Given the description of an element on the screen output the (x, y) to click on. 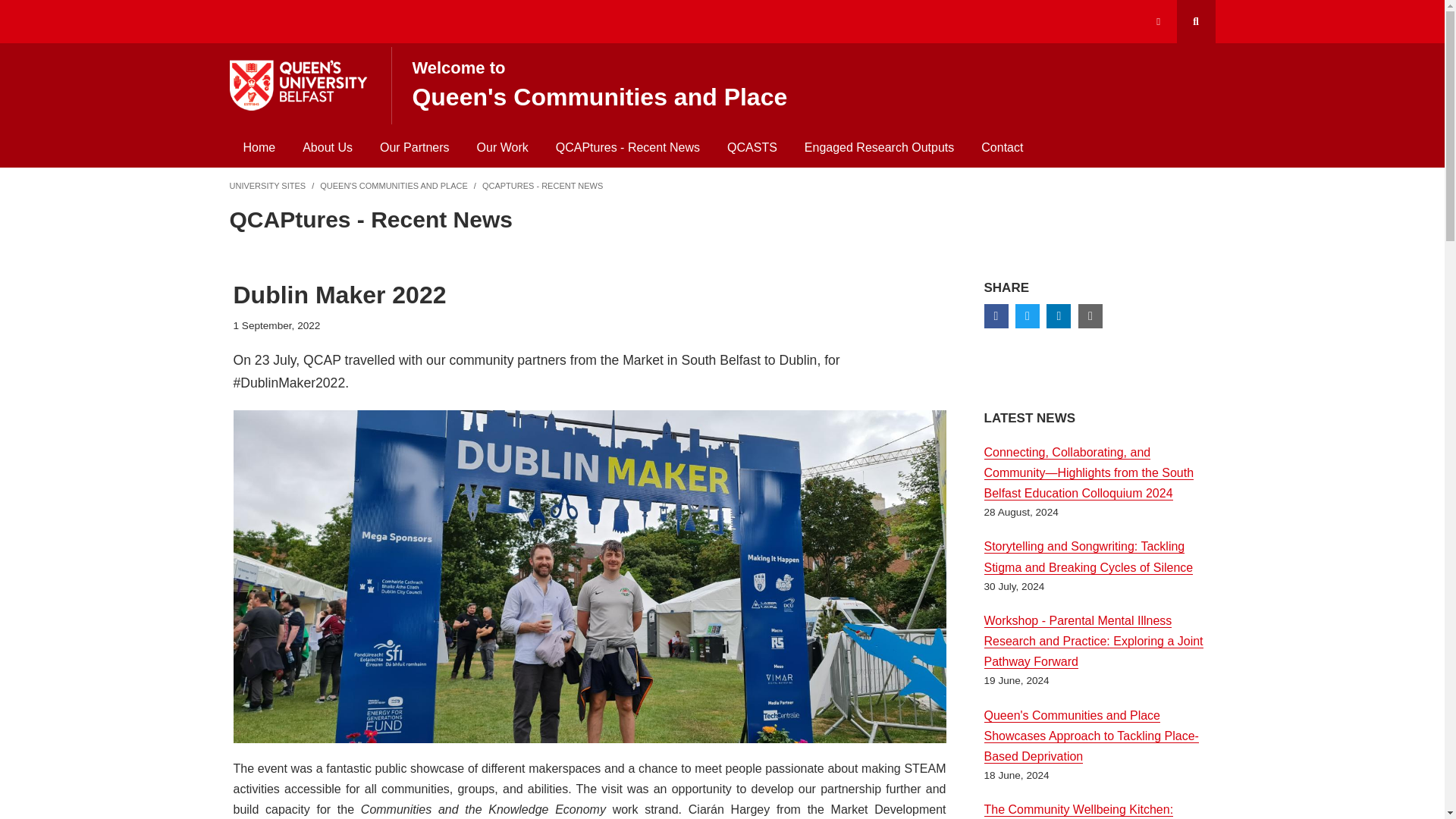
About Us (805, 81)
Home (327, 147)
Our Partners (258, 147)
QCAPtures - Recent News (414, 147)
Contact (627, 147)
Our Work (1002, 147)
QCASTS (502, 147)
Engaged Research Outputs (751, 147)
